Given the description of an element on the screen output the (x, y) to click on. 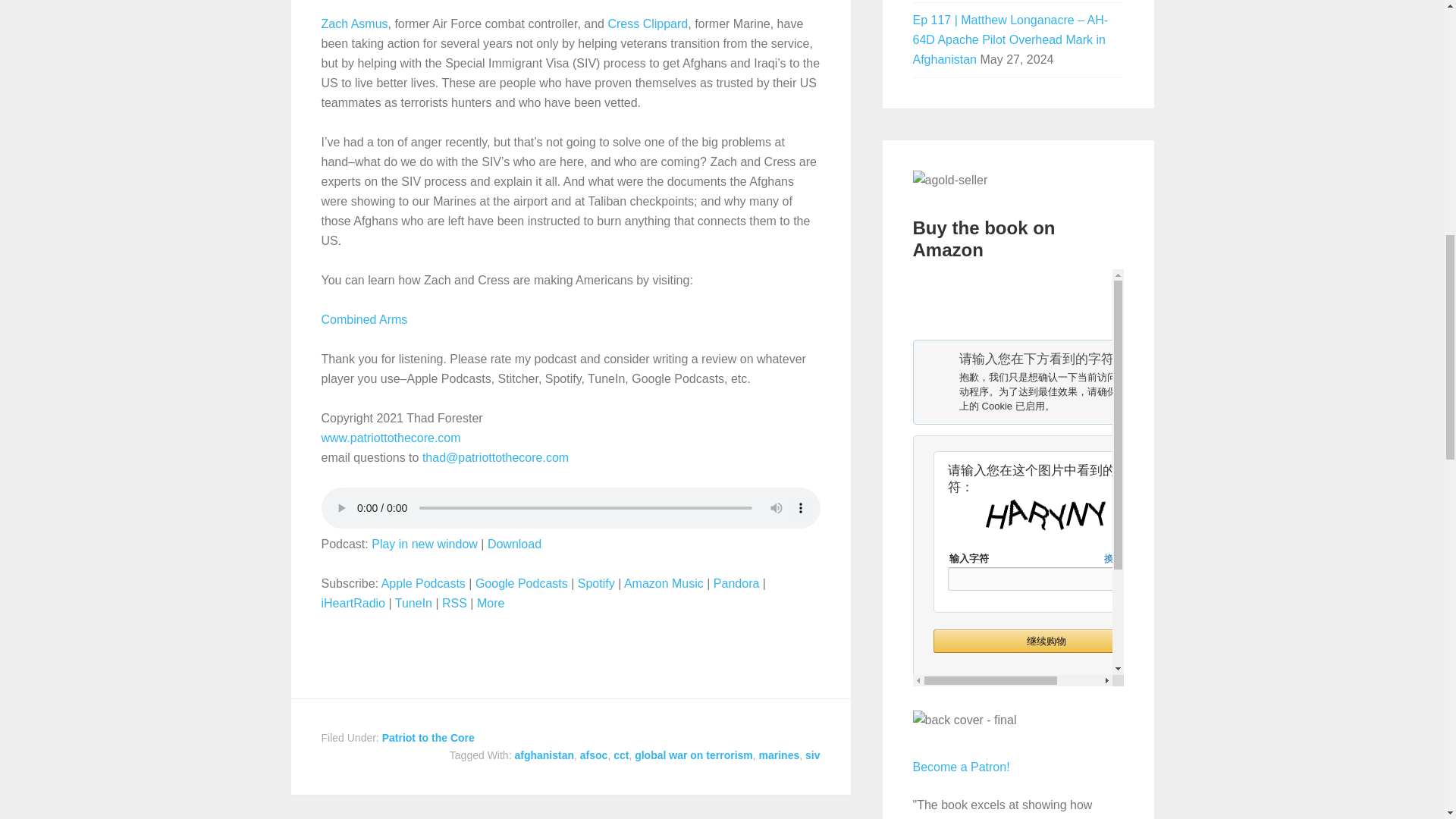
marines (778, 755)
www.patriottothecore.com (391, 437)
Subscribe on iHeartRadio (353, 603)
Pandora (736, 583)
Play in new window (424, 543)
Subscribe on Amazon Music (663, 583)
afghanistan (543, 755)
TuneIn (413, 603)
Download (514, 543)
Zach Asmus (354, 23)
